Given the description of an element on the screen output the (x, y) to click on. 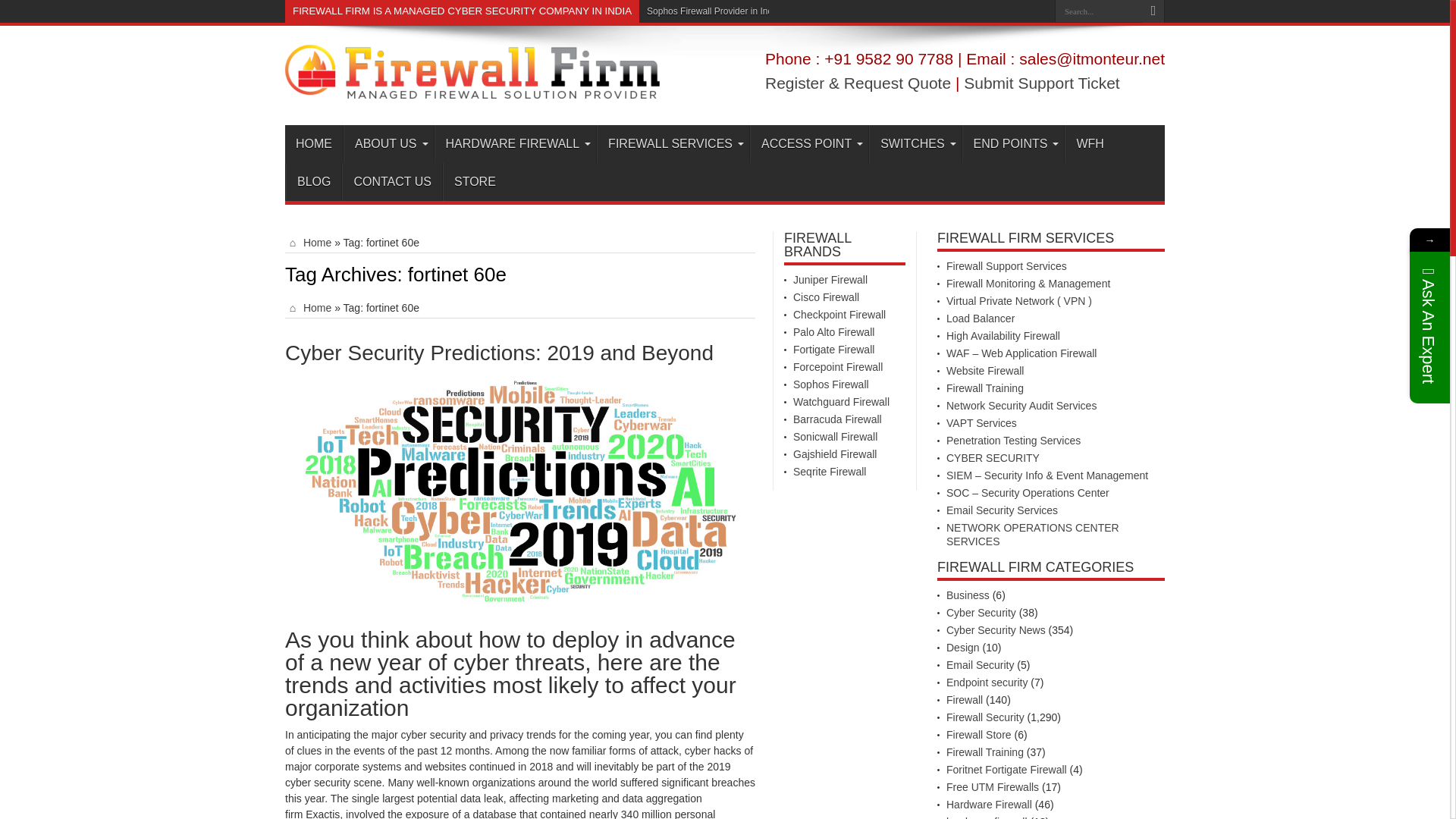
Sophos Firewall Provider in India (712, 11)
Search (1152, 11)
Search... (1097, 11)
Sophos Firewall Provider in India (712, 11)
